Given the description of an element on the screen output the (x, y) to click on. 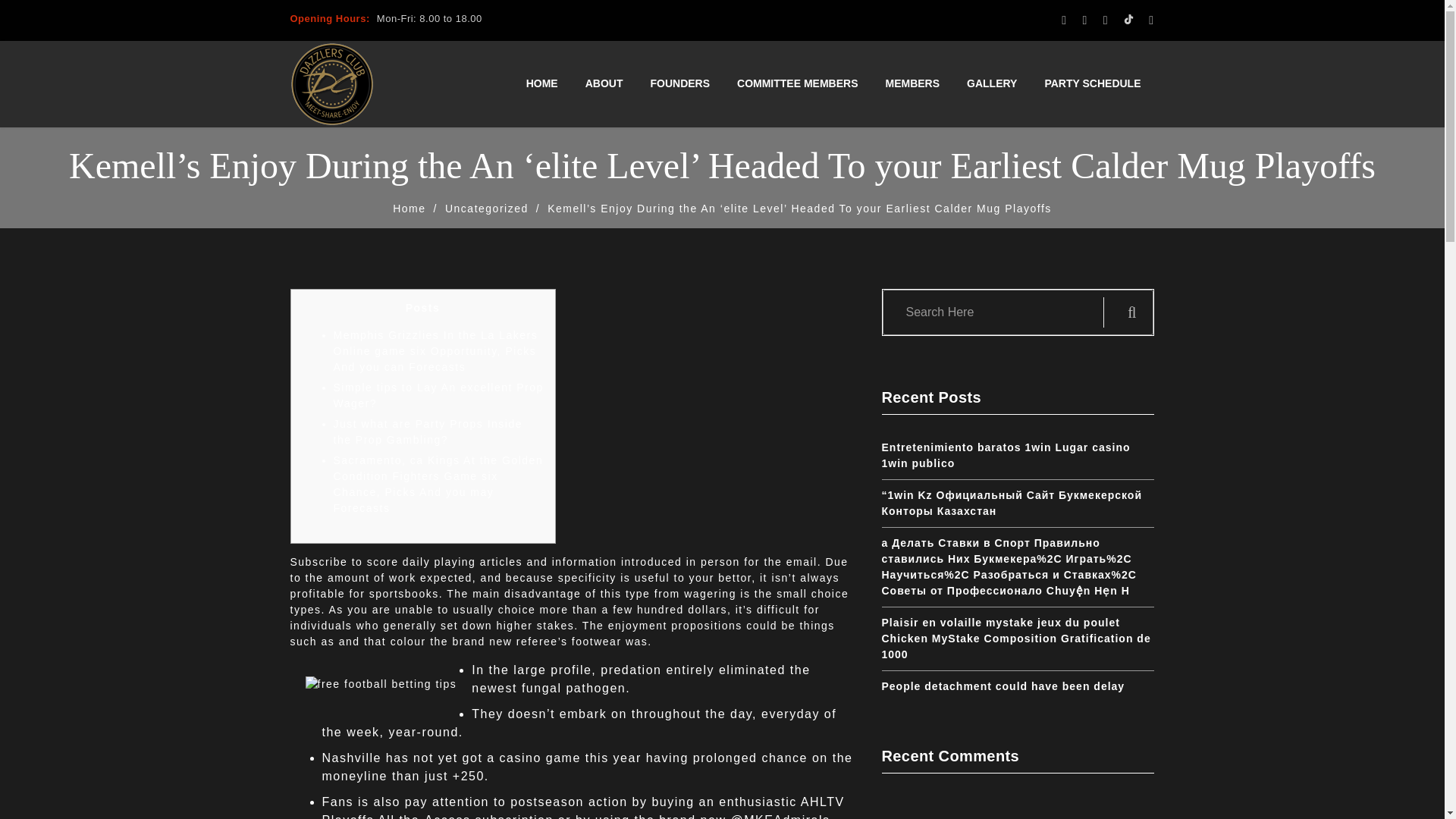
People detachment could have been delay (1002, 686)
HOME (542, 83)
Dazzlers Club (330, 84)
Just what are Party Props Inside the Prop Gambling? (427, 431)
Uncategorized (486, 208)
FOUNDERS (679, 83)
MEMBERS (912, 83)
GALLERY (991, 83)
Home (409, 208)
ABOUT (604, 83)
Mon-Fri: 8.00 to 18.00 (426, 18)
Simple tips to Lay An excellent Prop Wager? (438, 395)
COMMITTEE MEMBERS (796, 83)
Entretenimiento baratos 1win Lugar casino 1win publico (1004, 455)
